Given the description of an element on the screen output the (x, y) to click on. 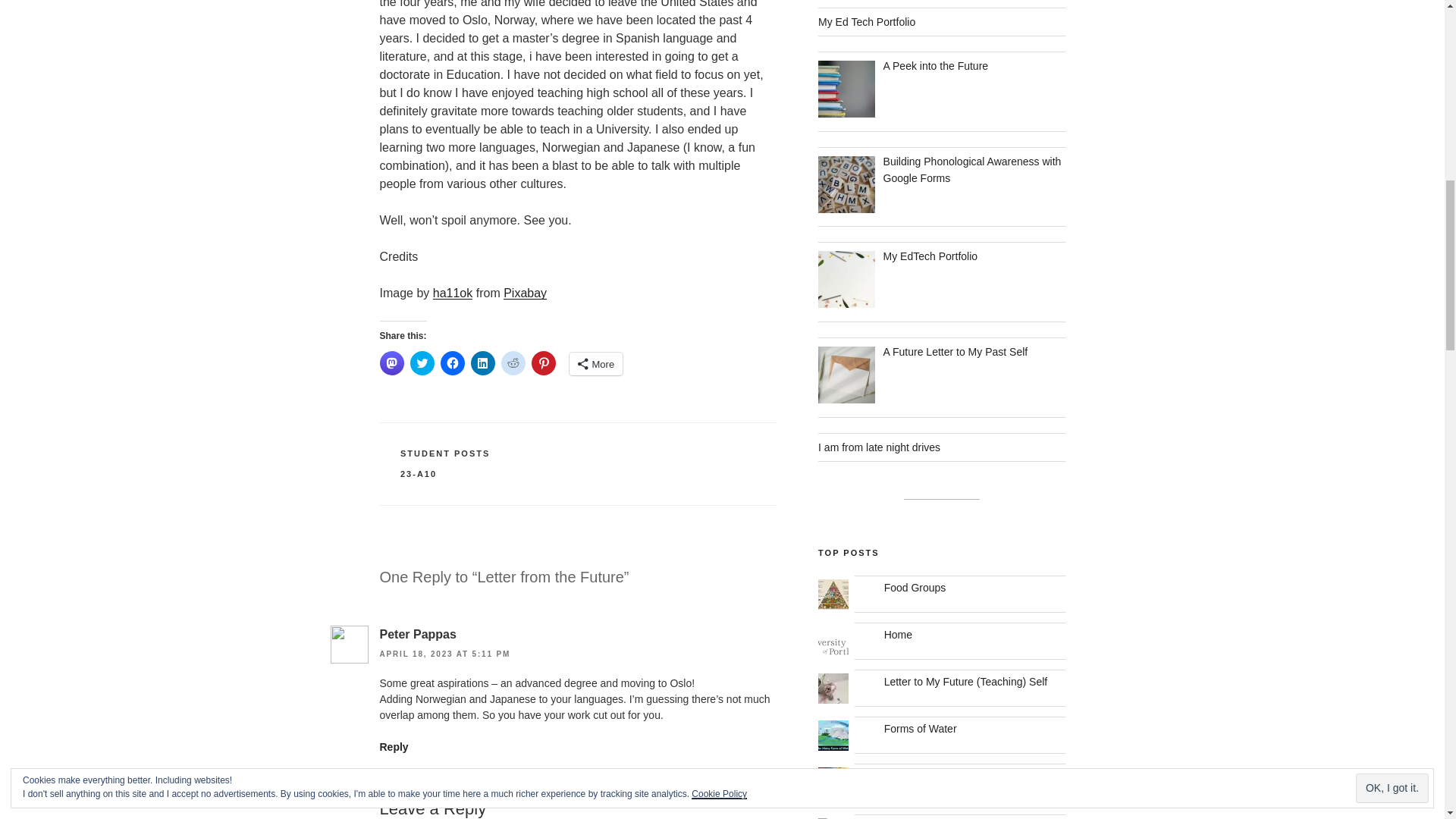
APRIL 18, 2023 AT 5:11 PM (444, 654)
ha11ok (452, 292)
Food Groups (914, 587)
I am from late night drives (879, 447)
Click to share on Pinterest (542, 363)
Click to share on Mastodon (390, 363)
23-A10 (418, 473)
My Ed Tech Portfolio (866, 21)
Reply (392, 746)
A Future Letter to My Past Self (955, 351)
